Given the description of an element on the screen output the (x, y) to click on. 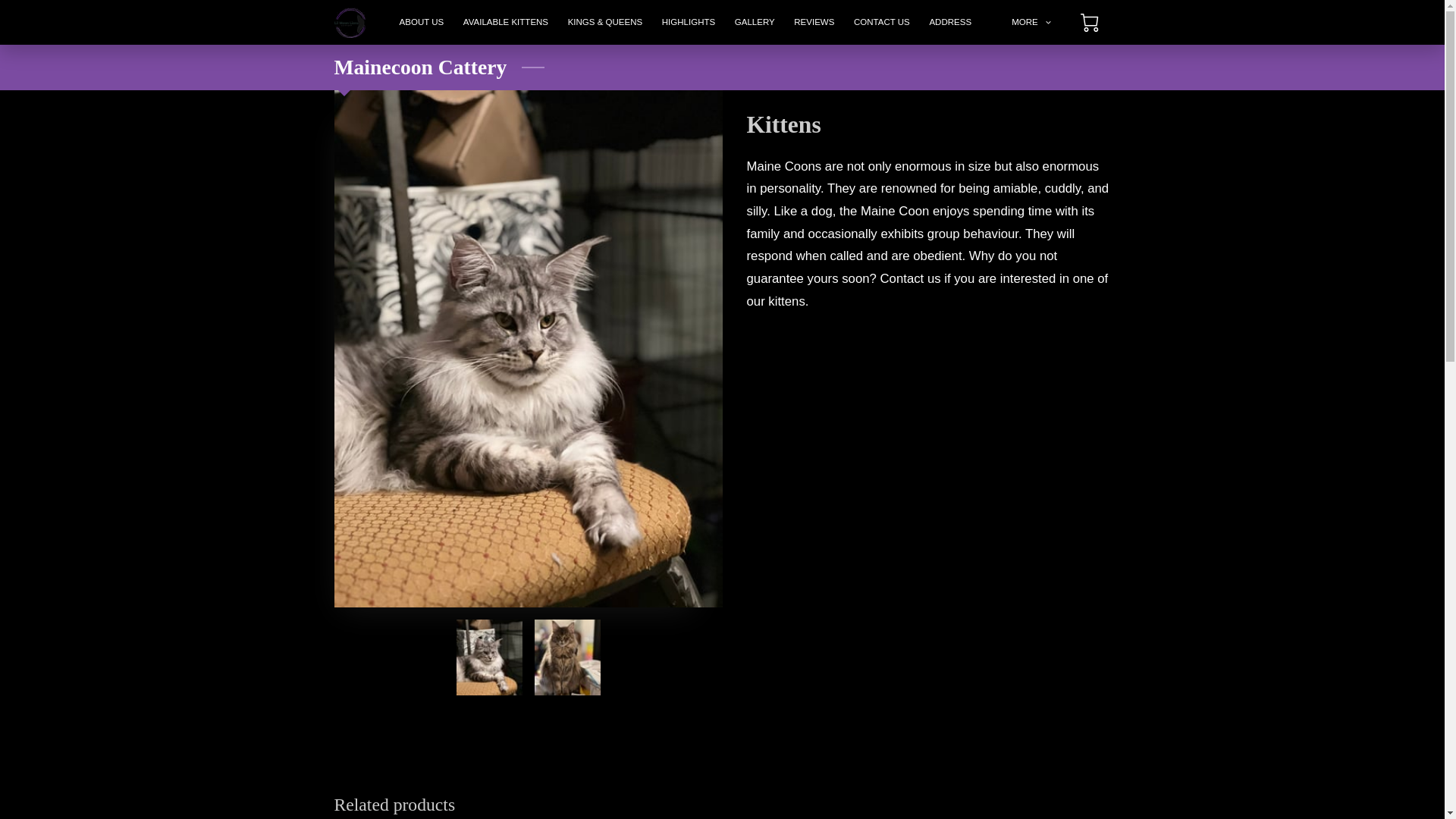
CONTACT US (881, 22)
ABOUT US (421, 22)
ADDRESS (950, 22)
0 (1088, 22)
GALLERY (754, 22)
REVIEWS (814, 22)
HIGHLIGHTS (688, 22)
AVAILABLE KITTENS (504, 22)
